Given the description of an element on the screen output the (x, y) to click on. 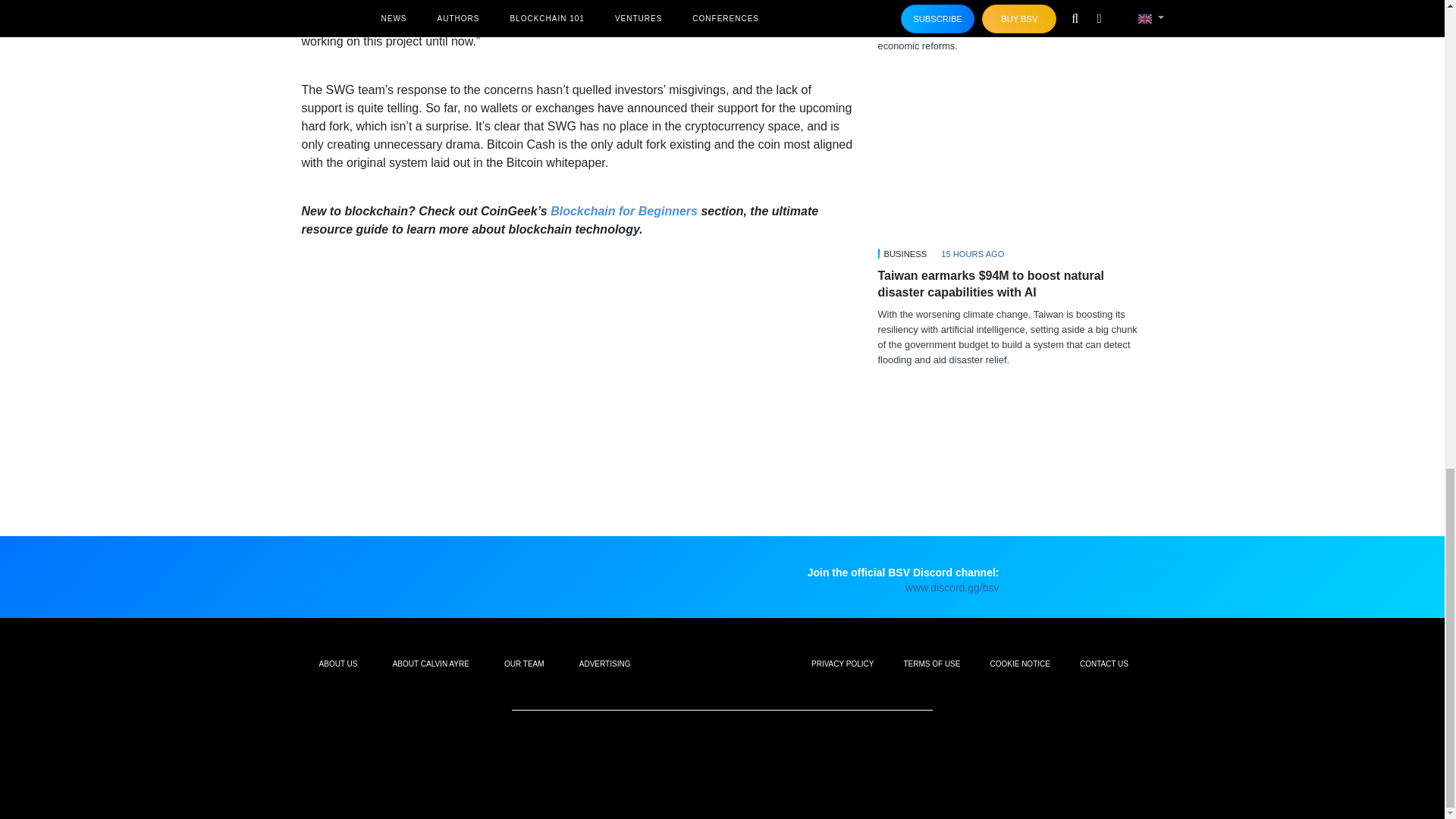
Blockchain for Beginners (623, 210)
